Given the description of an element on the screen output the (x, y) to click on. 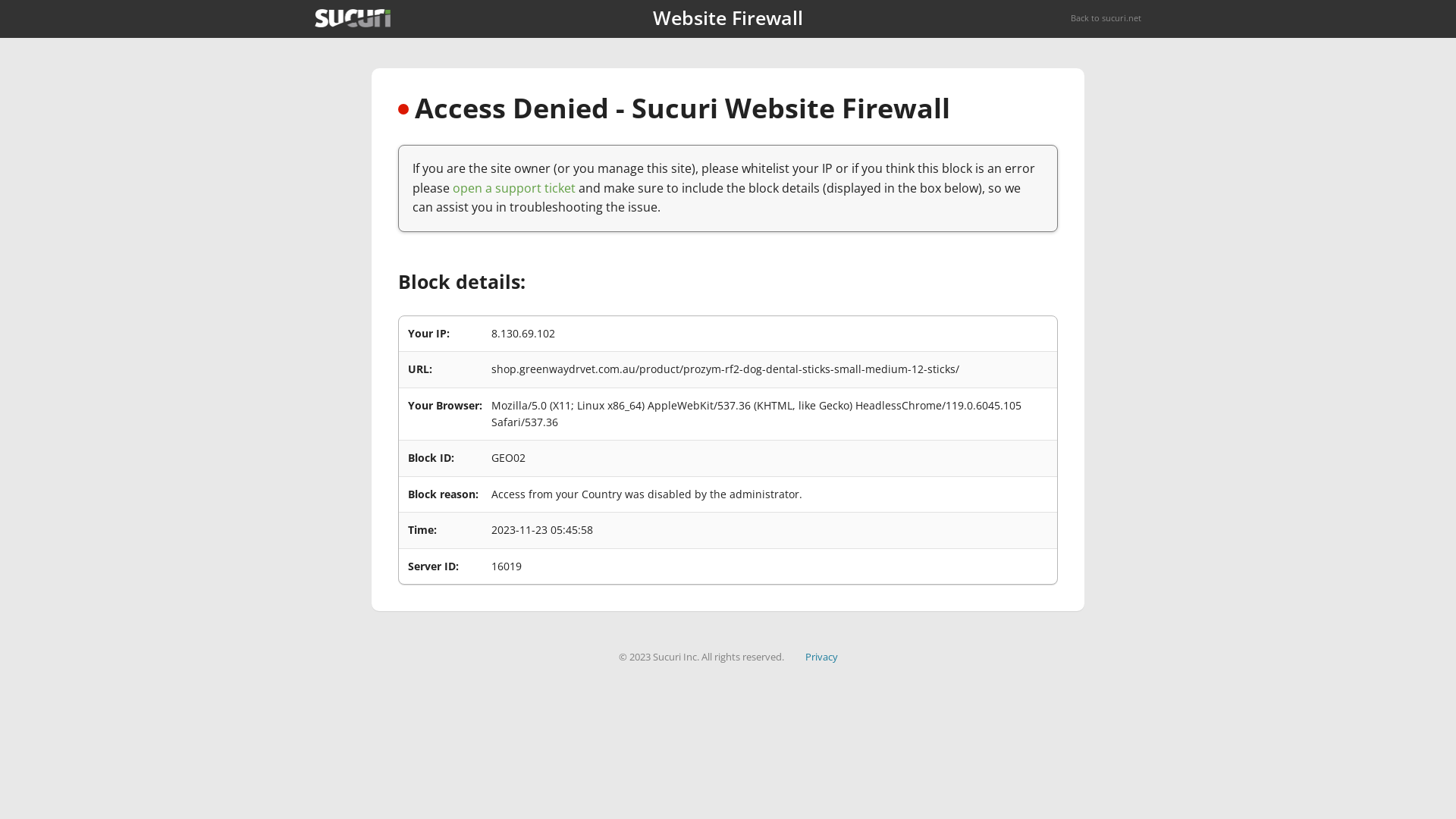
Privacy Element type: text (821, 656)
open a support ticket Element type: text (513, 187)
Back to sucuri.net Element type: text (1105, 18)
